Given the description of an element on the screen output the (x, y) to click on. 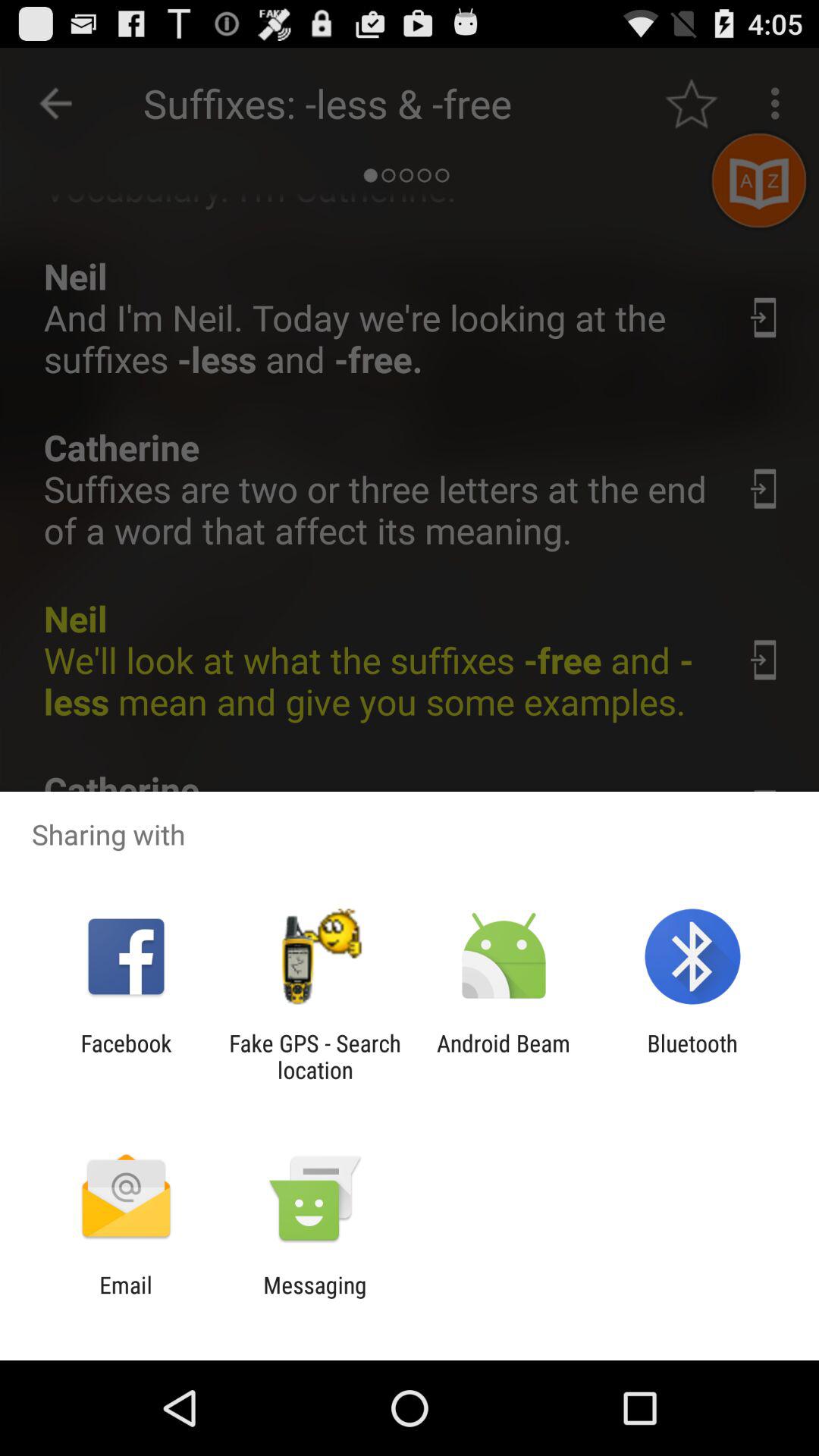
tap the fake gps search (314, 1056)
